Given the description of an element on the screen output the (x, y) to click on. 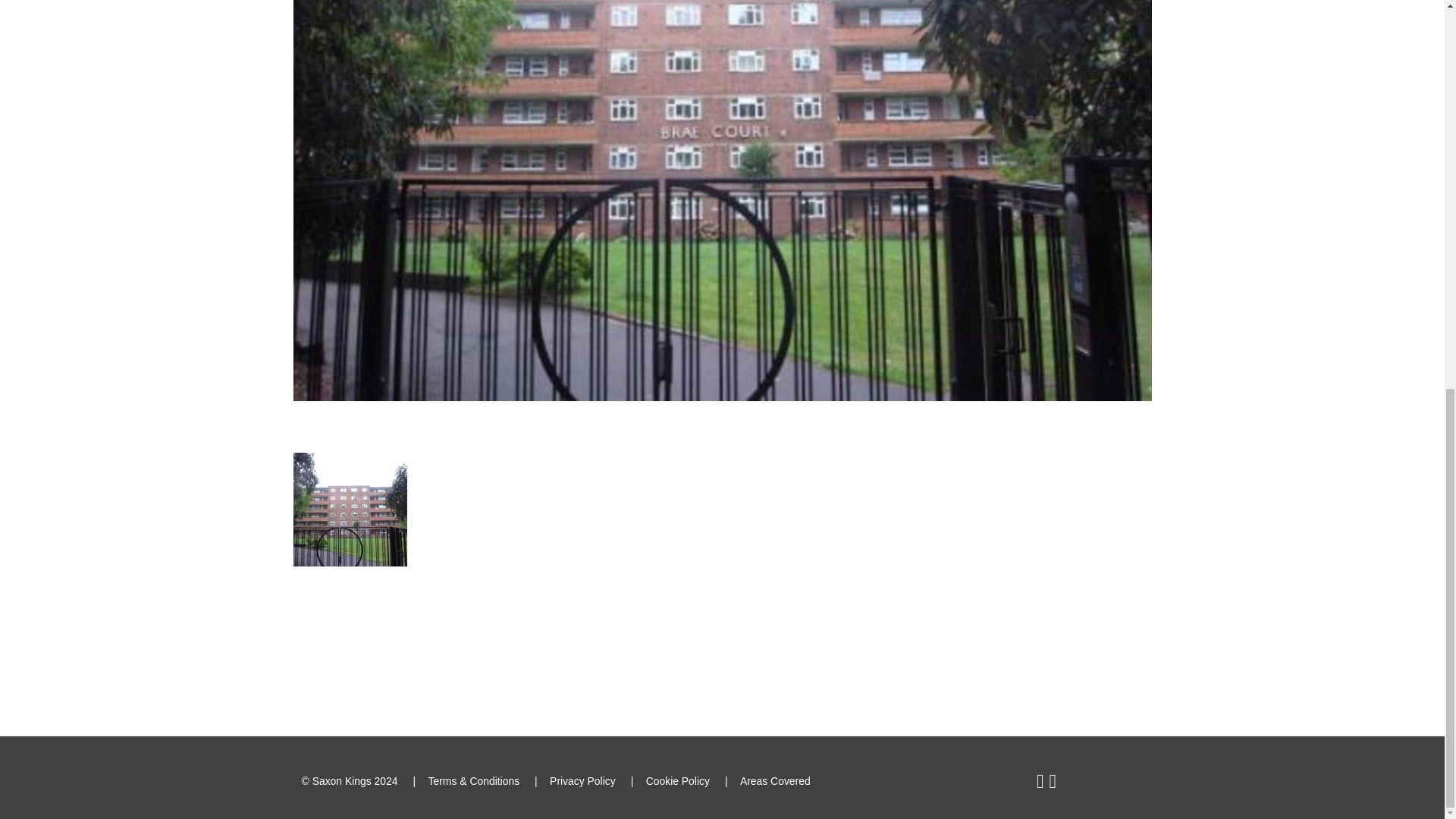
Cookie Policy (677, 780)
Saxon Kings (342, 780)
Areas Covered (775, 780)
Privacy Policy (582, 780)
